Given the description of an element on the screen output the (x, y) to click on. 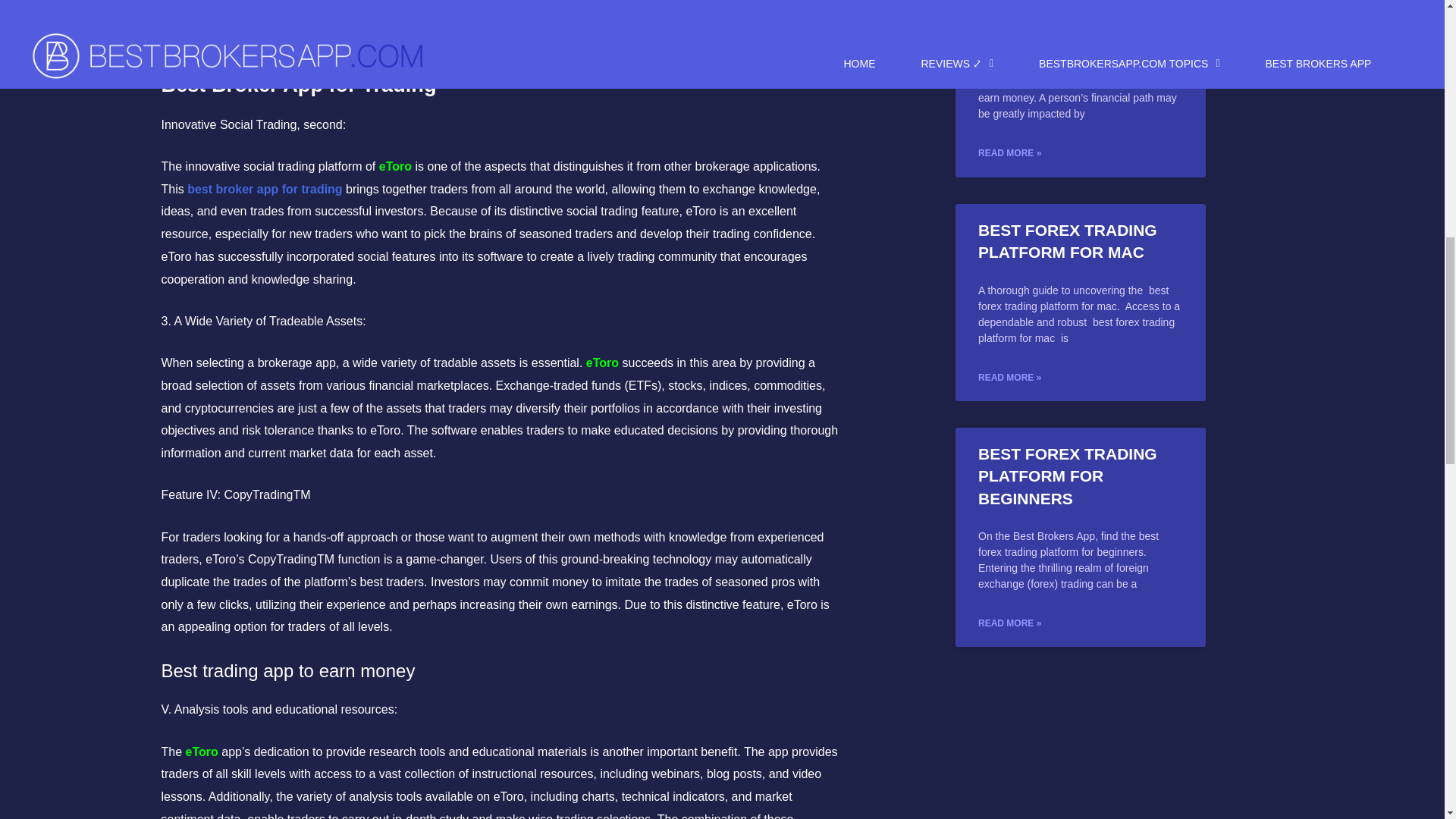
Visit Broker (543, 2)
Read Review (544, 15)
eToro (395, 165)
best broker app for trading (264, 188)
